Given the description of an element on the screen output the (x, y) to click on. 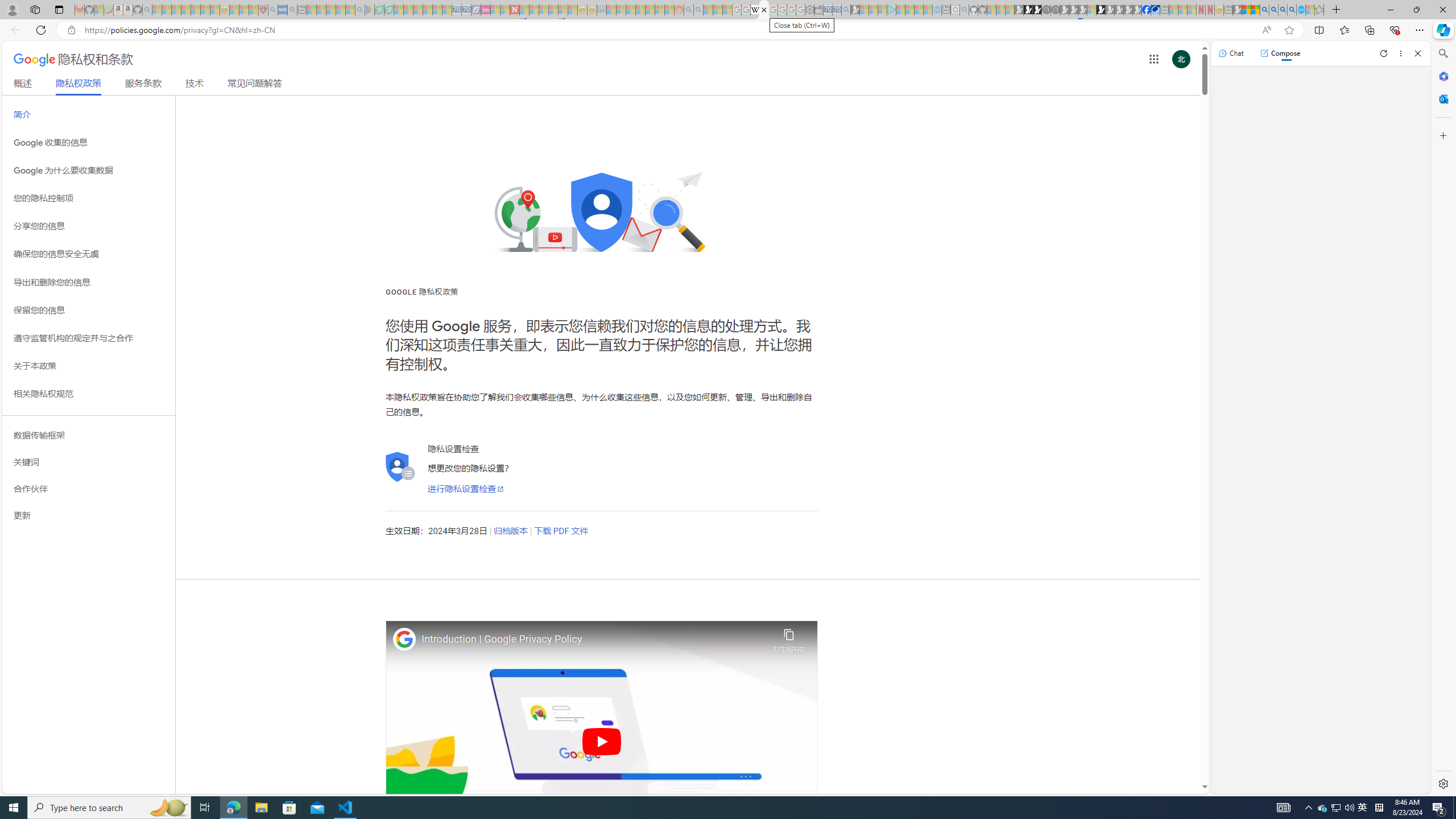
Local - MSN - Sleeping (253, 9)
Future Focus Report 2024 - Sleeping (1054, 9)
MSN - Sleeping (1236, 9)
2009 Bing officially replaced Live Search on June 3 - Search (1272, 9)
